Given the description of an element on the screen output the (x, y) to click on. 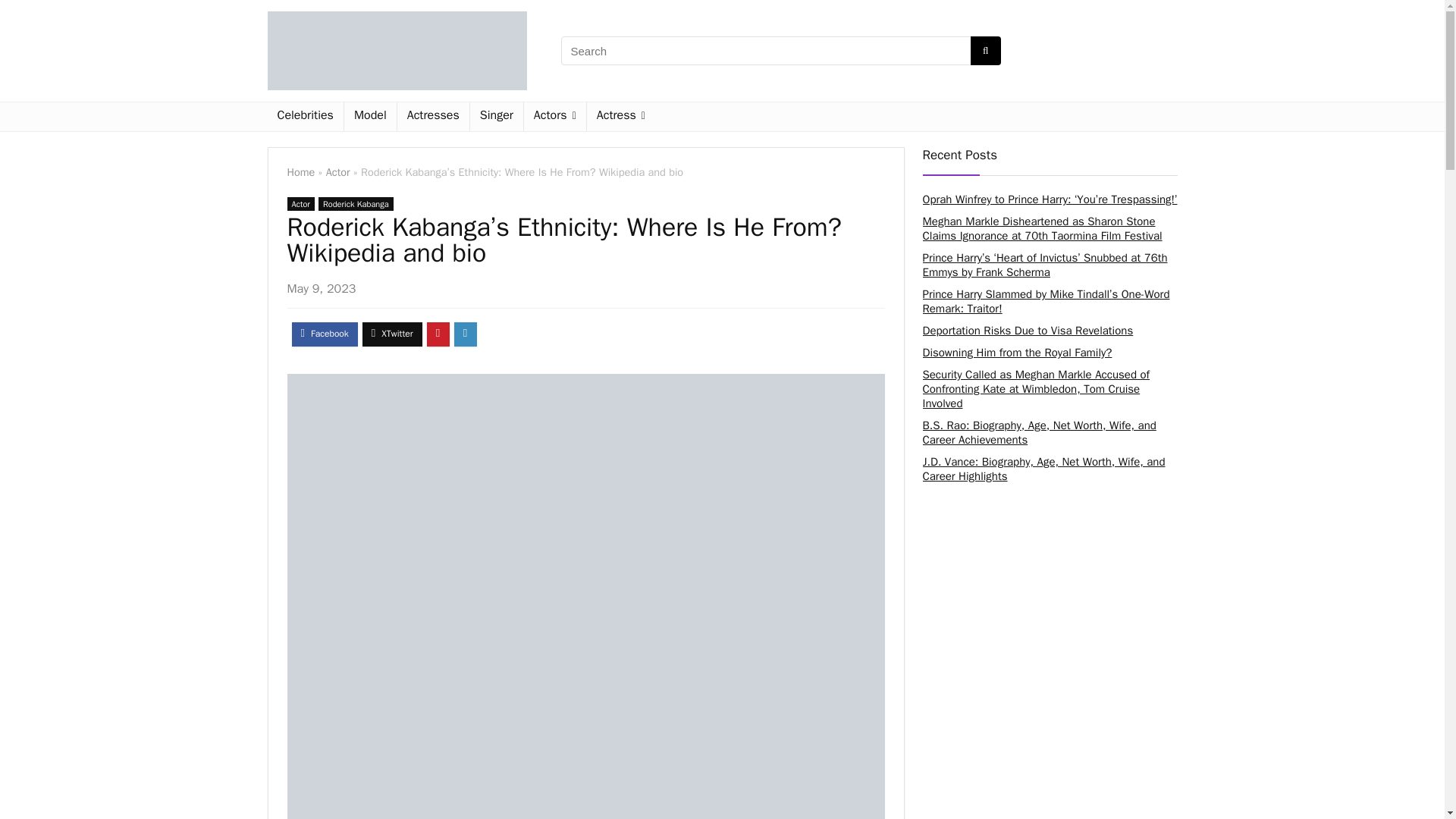
Actresses (432, 116)
View all posts in Roderick Kabanga (355, 203)
Home (300, 172)
Actor (300, 203)
Actress (620, 116)
Actor (338, 172)
Model (369, 116)
Celebrities (304, 116)
Actors (555, 116)
Roderick Kabanga (355, 203)
View all posts in Actor (300, 203)
Singer (496, 116)
